Given the description of an element on the screen output the (x, y) to click on. 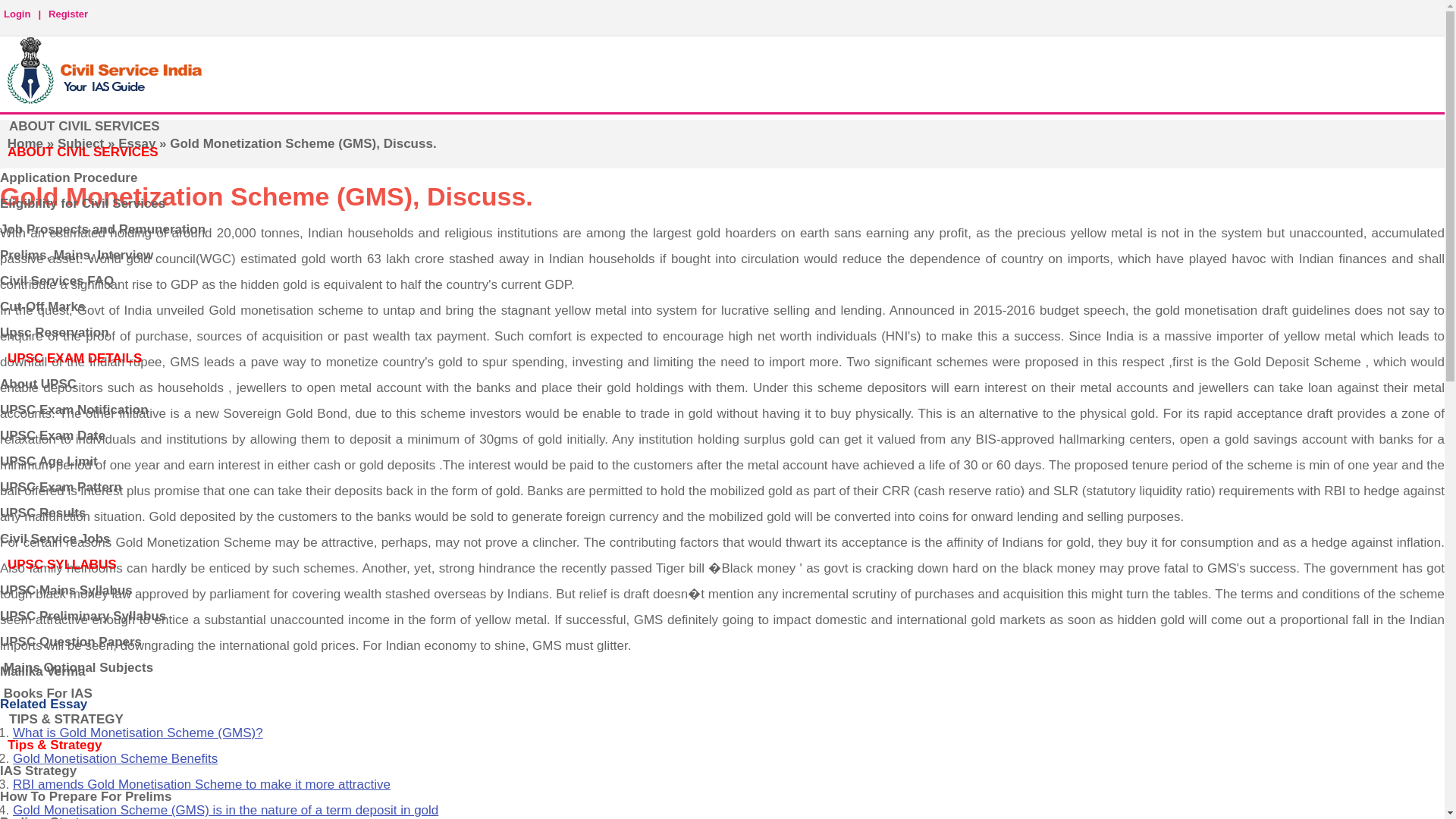
ABOUT CIVIL SERVICES (84, 125)
Application Procedure (68, 177)
Eligibility for Civil Services (82, 203)
Prelims, Mains, Interview (76, 255)
Guidance for Civil services Exam (84, 125)
Login (16, 12)
Cut-Off Marks (42, 306)
Civil Service Jobs (55, 538)
Job Prospects and Remuneration (102, 228)
UPSC Exam Date (52, 435)
